Given the description of an element on the screen output the (x, y) to click on. 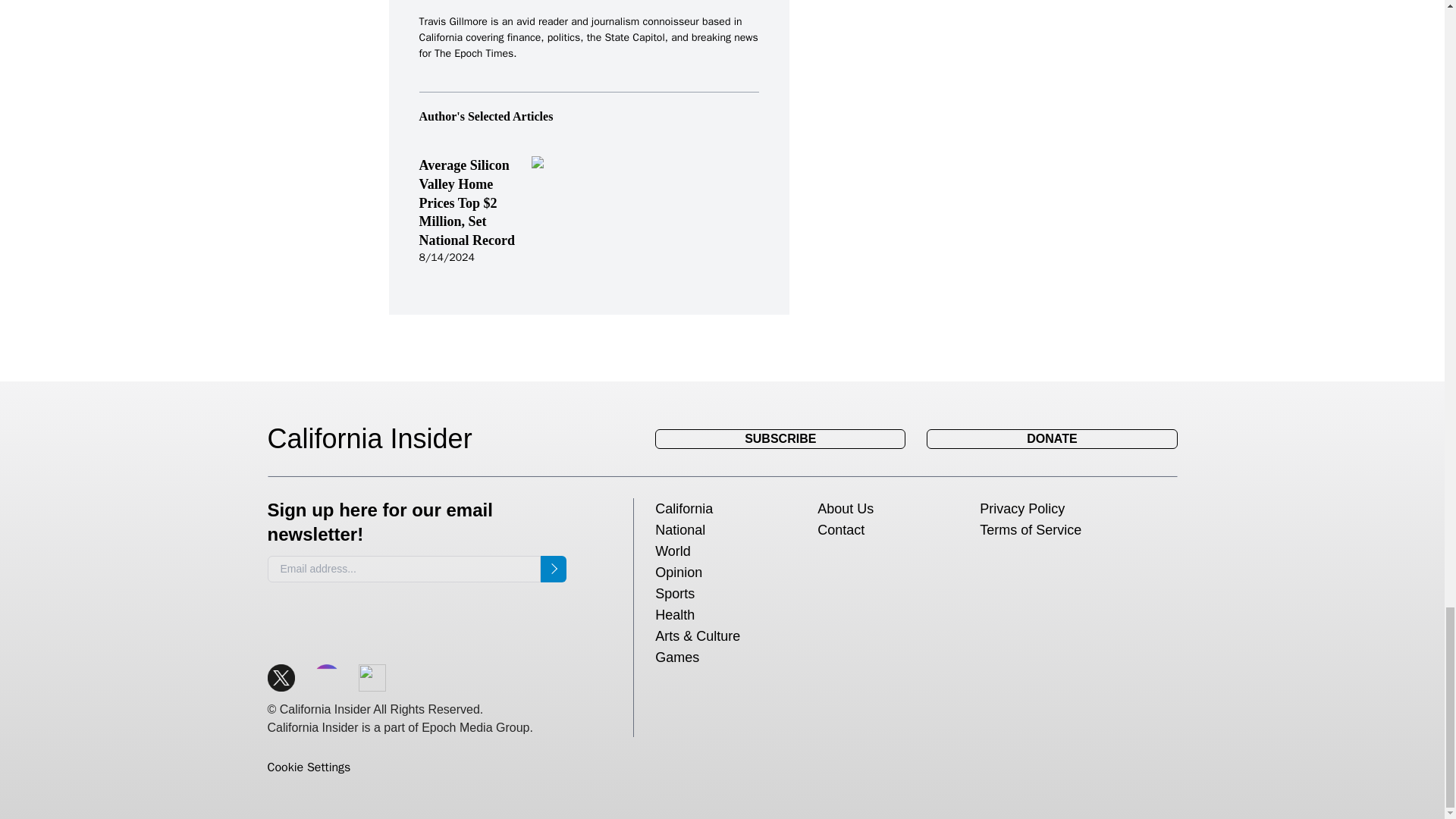
Games (676, 657)
SUBSCRIBE (780, 438)
California Insider (380, 439)
Sports (674, 593)
DONATE (1051, 438)
California (684, 508)
About Us (844, 508)
Privacy Policy (1021, 508)
Health (674, 614)
World (672, 550)
